Given the description of an element on the screen output the (x, y) to click on. 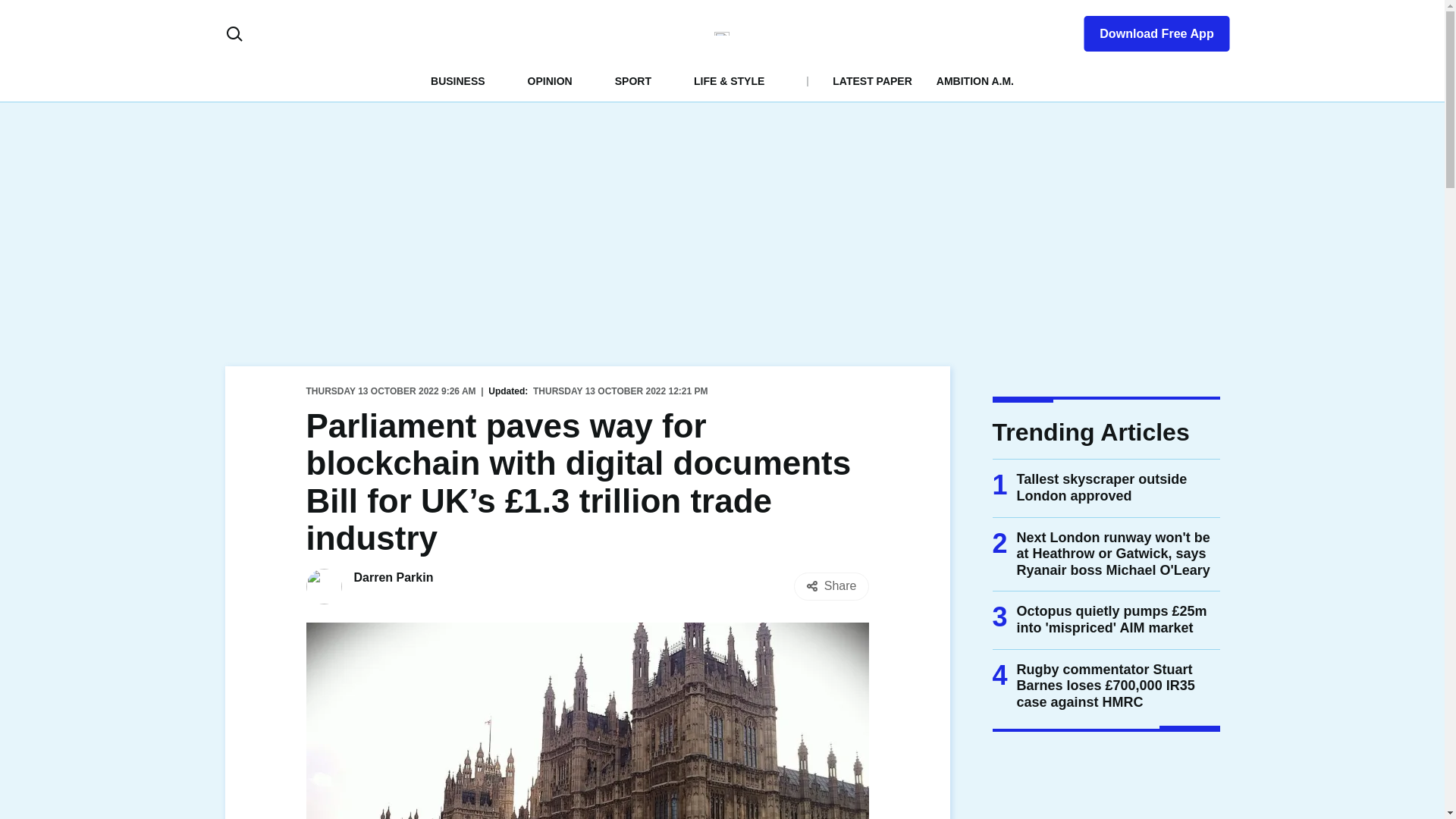
CityAM (721, 33)
SPORT (632, 80)
OPINION (549, 80)
BUSINESS (457, 80)
Download Free App (1146, 30)
